Given the description of an element on the screen output the (x, y) to click on. 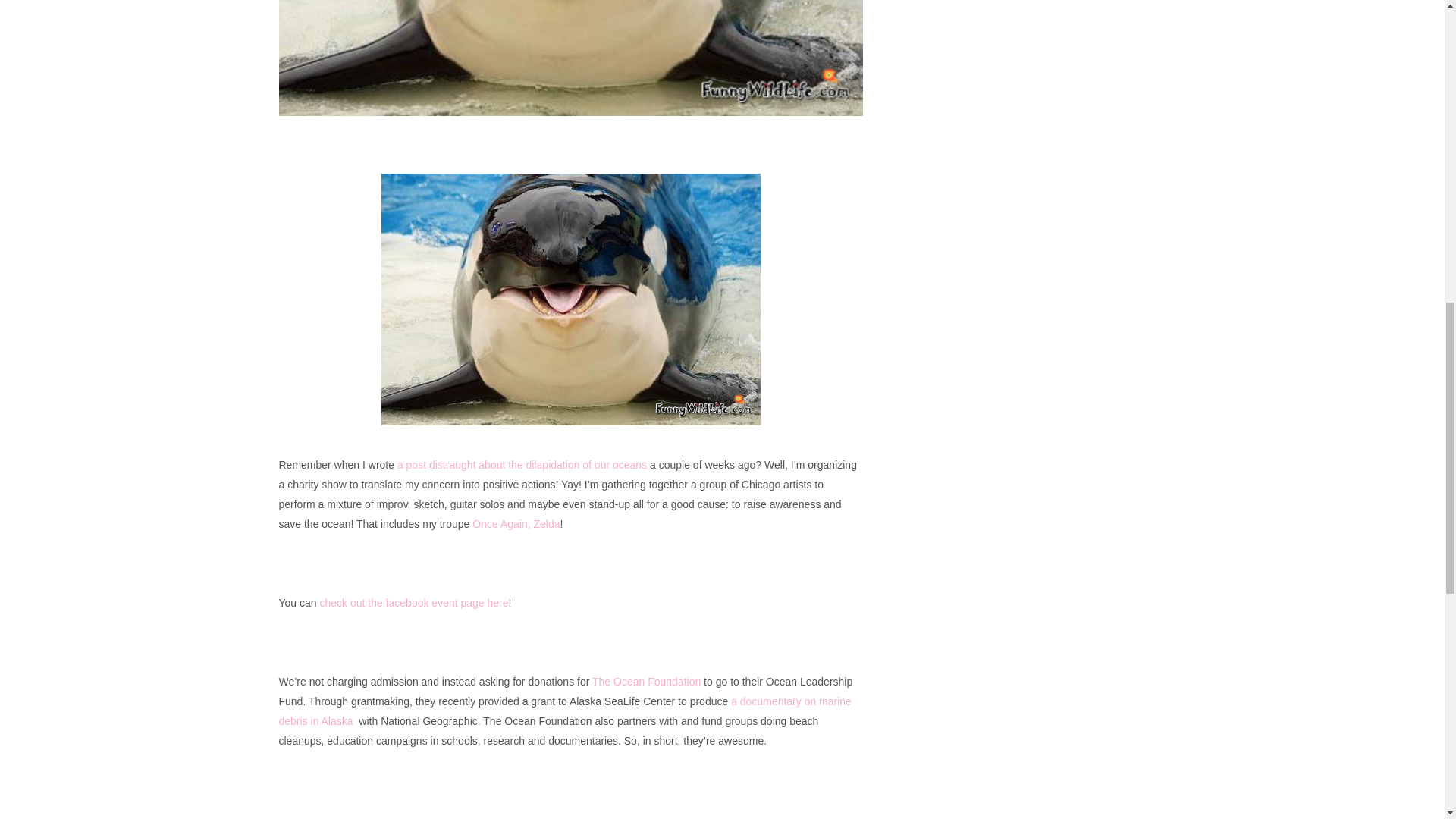
a post distraught about the dilapidation of our oceans (521, 464)
check out the facebook event page here (413, 603)
check out the facebook event page here (413, 603)
Once Again, Zelda (515, 523)
The Ocean Foundation (646, 681)
The Ocean Foundation (646, 681)
a documentary on marine debris in Alaska (565, 711)
a post distraught about the dilapidation of our oceans (521, 464)
Once Again, Zelda (515, 523)
Get ready for a charity show to SAVE THE OCEAN! (571, 58)
